Given the description of an element on the screen output the (x, y) to click on. 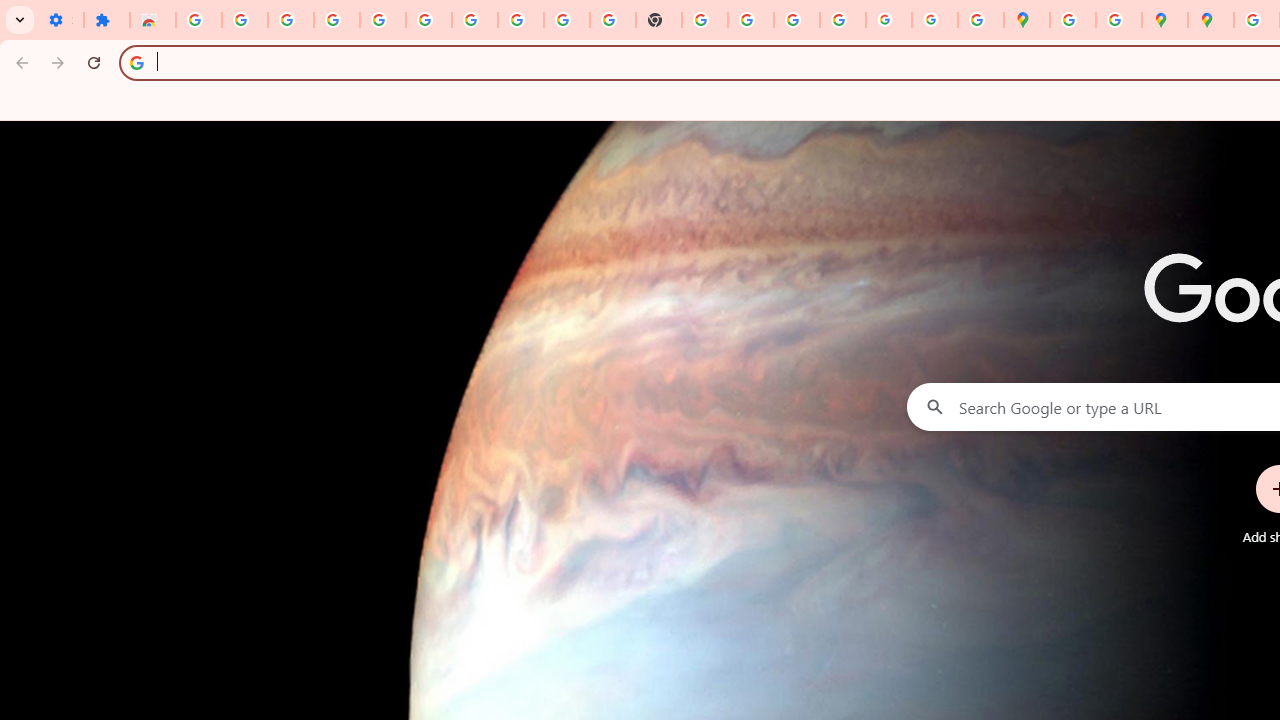
Google Account (520, 20)
Extensions (107, 20)
Forward (57, 62)
Safety in Our Products - Google Safety Center (1118, 20)
YouTube (567, 20)
Delete photos & videos - Computer - Google Photos Help (290, 20)
Search icon (136, 62)
Learn how to find your photos - Google Photos Help (336, 20)
Back (19, 62)
Reload (93, 62)
